Given the description of an element on the screen output the (x, y) to click on. 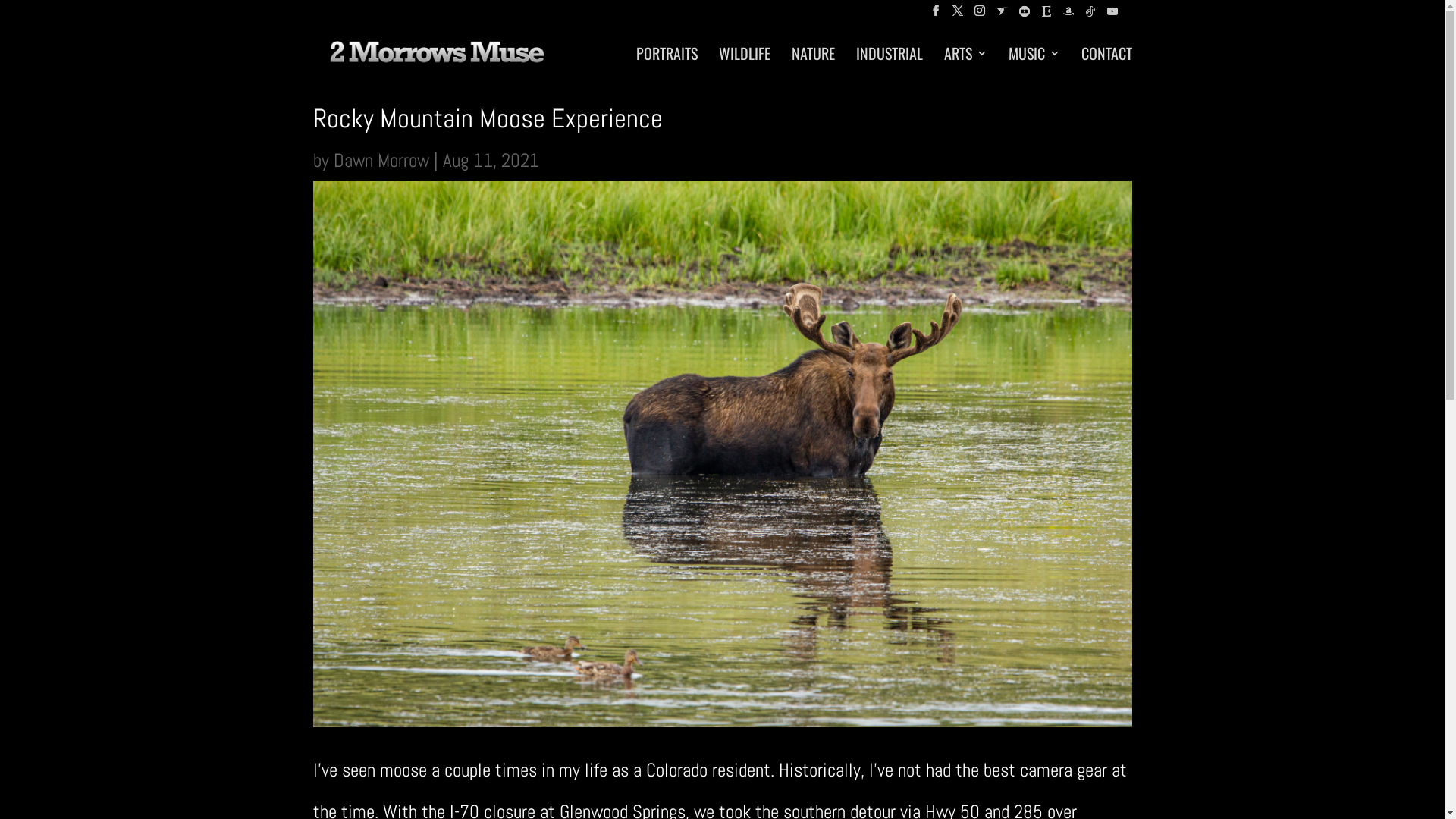
WILDLIFE Element type: text (744, 63)
IMG_2293 Element type: hover (721, 453)
CONTACT Element type: text (1106, 63)
INDUSTRIAL Element type: text (888, 63)
ARTS Element type: text (964, 63)
MUSIC Element type: text (1034, 63)
Dawn Morrow Element type: text (381, 160)
NATURE Element type: text (812, 63)
PORTRAITS Element type: text (665, 63)
